Given the description of an element on the screen output the (x, y) to click on. 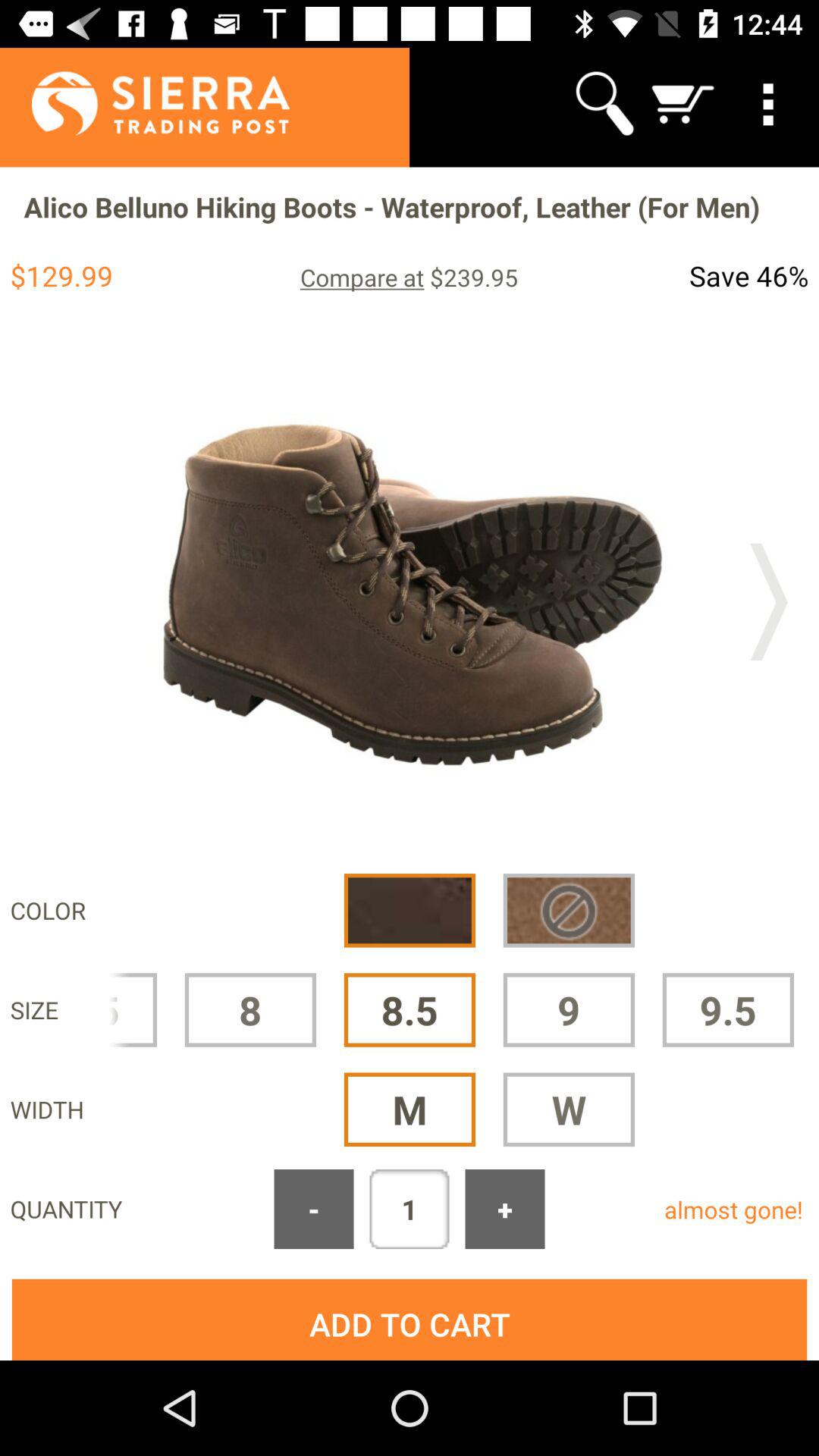
turn off icon above the alico belluno hiking app (603, 103)
